Given the description of an element on the screen output the (x, y) to click on. 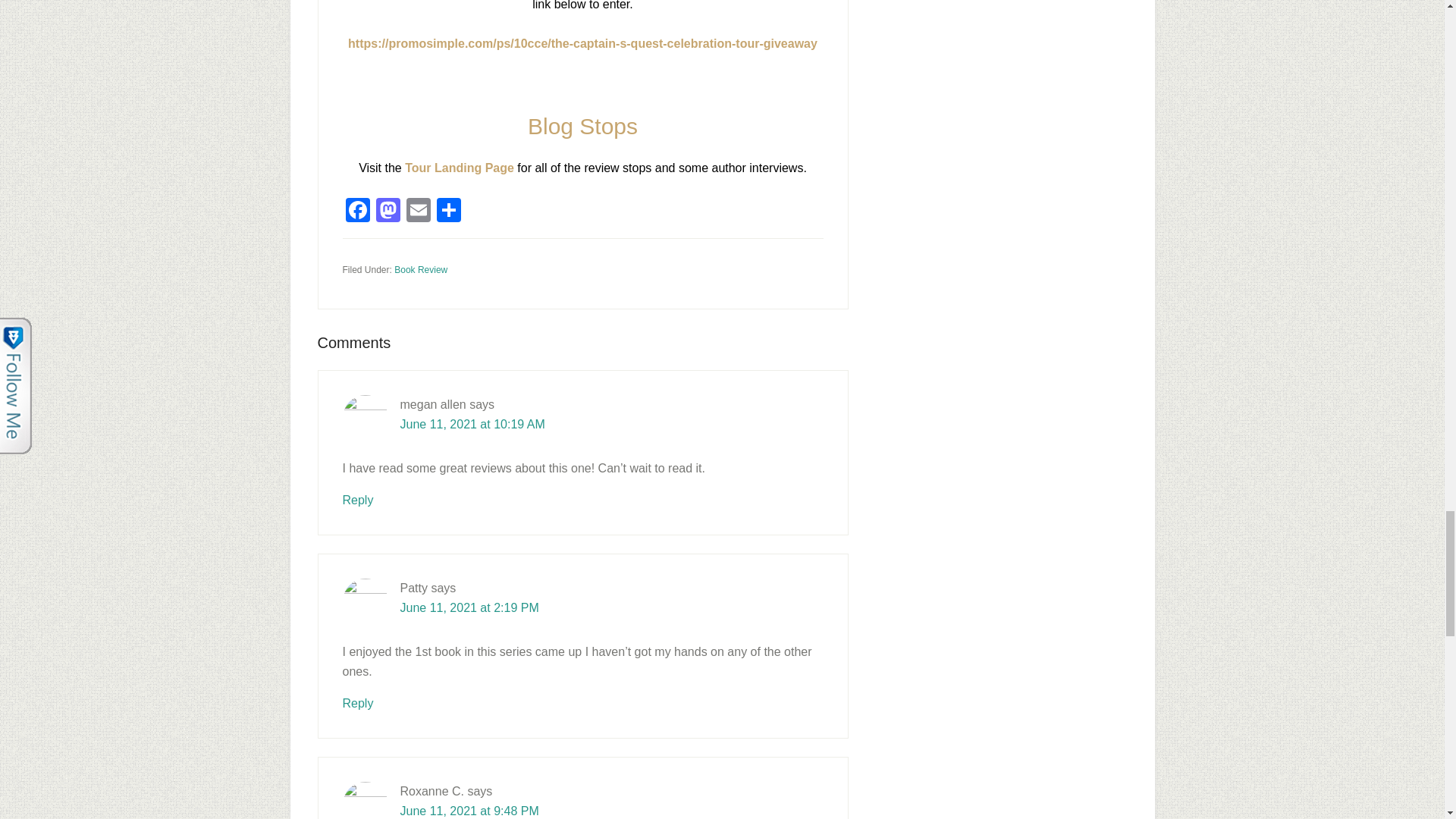
Share (448, 212)
Tour Landing Page (458, 167)
Email (418, 212)
June 11, 2021 at 10:19 AM (472, 423)
Reply (358, 703)
June 11, 2021 at 9:48 PM (469, 810)
Facebook (357, 212)
Facebook (357, 212)
Email (418, 212)
Book Review (420, 269)
Mastodon (387, 212)
Mastodon (387, 212)
June 11, 2021 at 2:19 PM (469, 607)
Reply (358, 499)
